Given the description of an element on the screen output the (x, y) to click on. 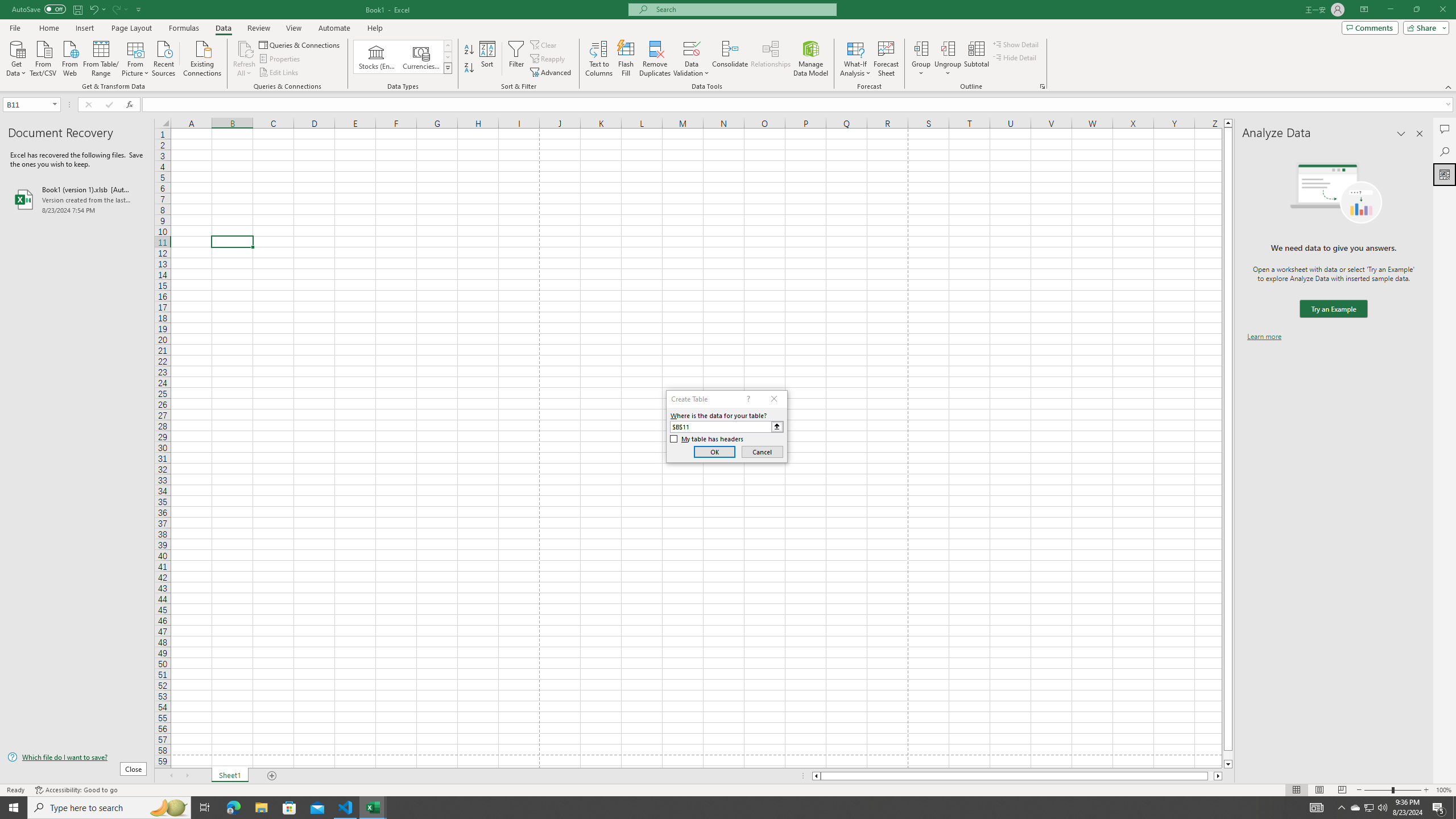
Stocks (English) (375, 56)
